Given the description of an element on the screen output the (x, y) to click on. 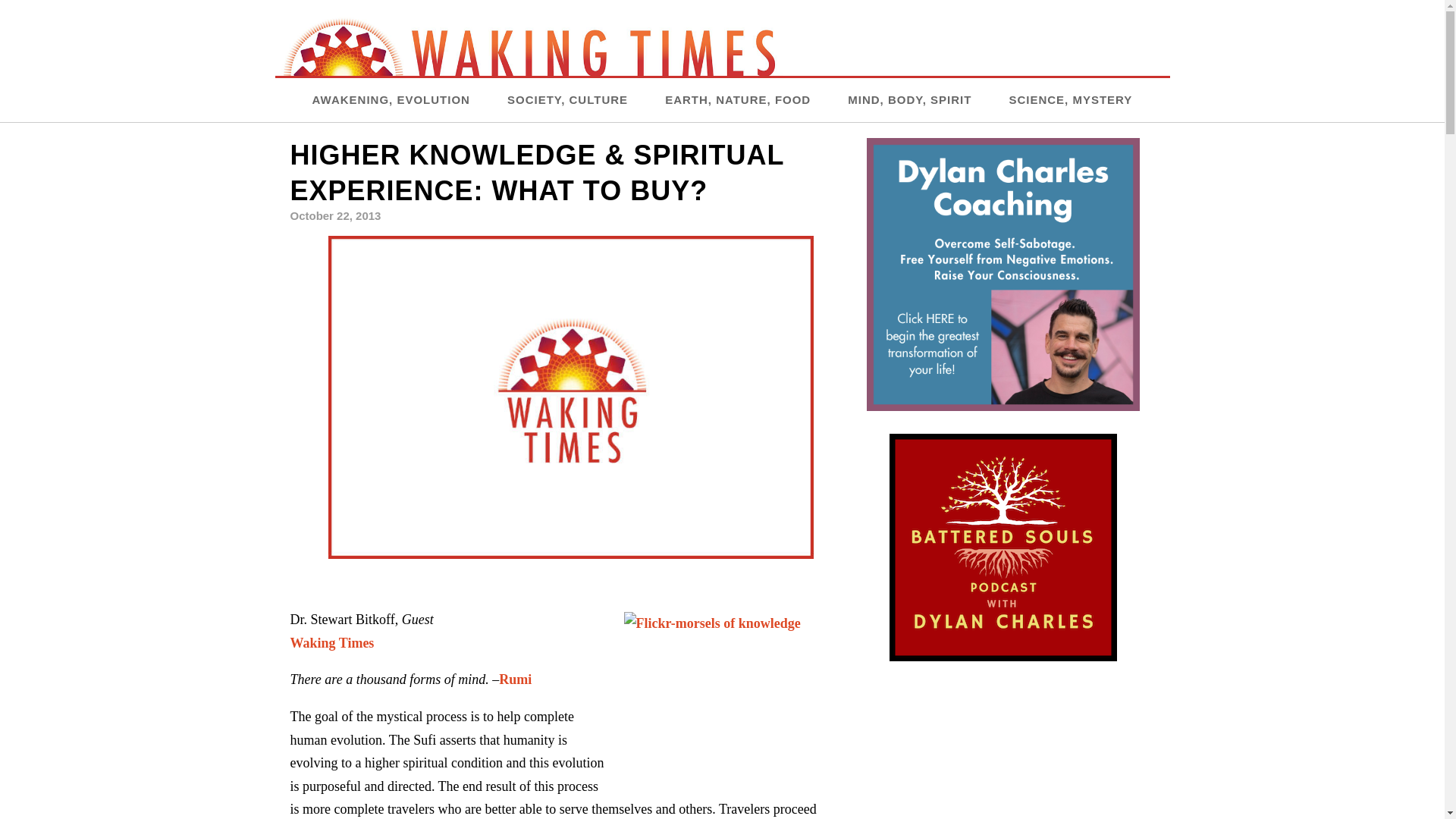
MIND, BODY, SPIRIT (909, 99)
SOCIETY, CULTURE (566, 99)
AWAKENING, EVOLUTION (391, 99)
Waking Times (331, 642)
SCIENCE, MYSTERY (1070, 99)
EARTH, NATURE, FOOD (737, 99)
Rumi (515, 679)
